Given the description of an element on the screen output the (x, y) to click on. 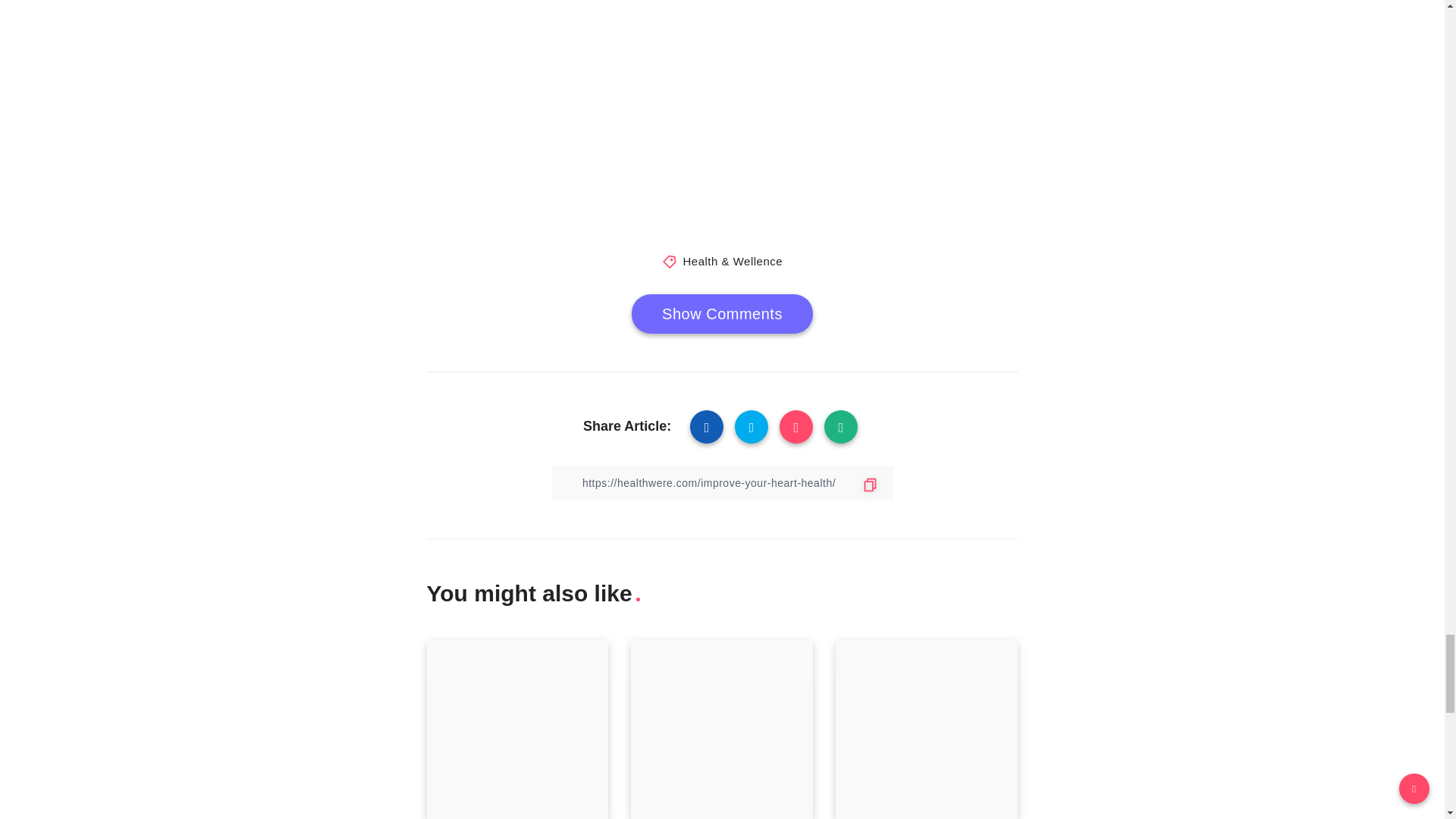
Show Comments (721, 313)
